Given the description of an element on the screen output the (x, y) to click on. 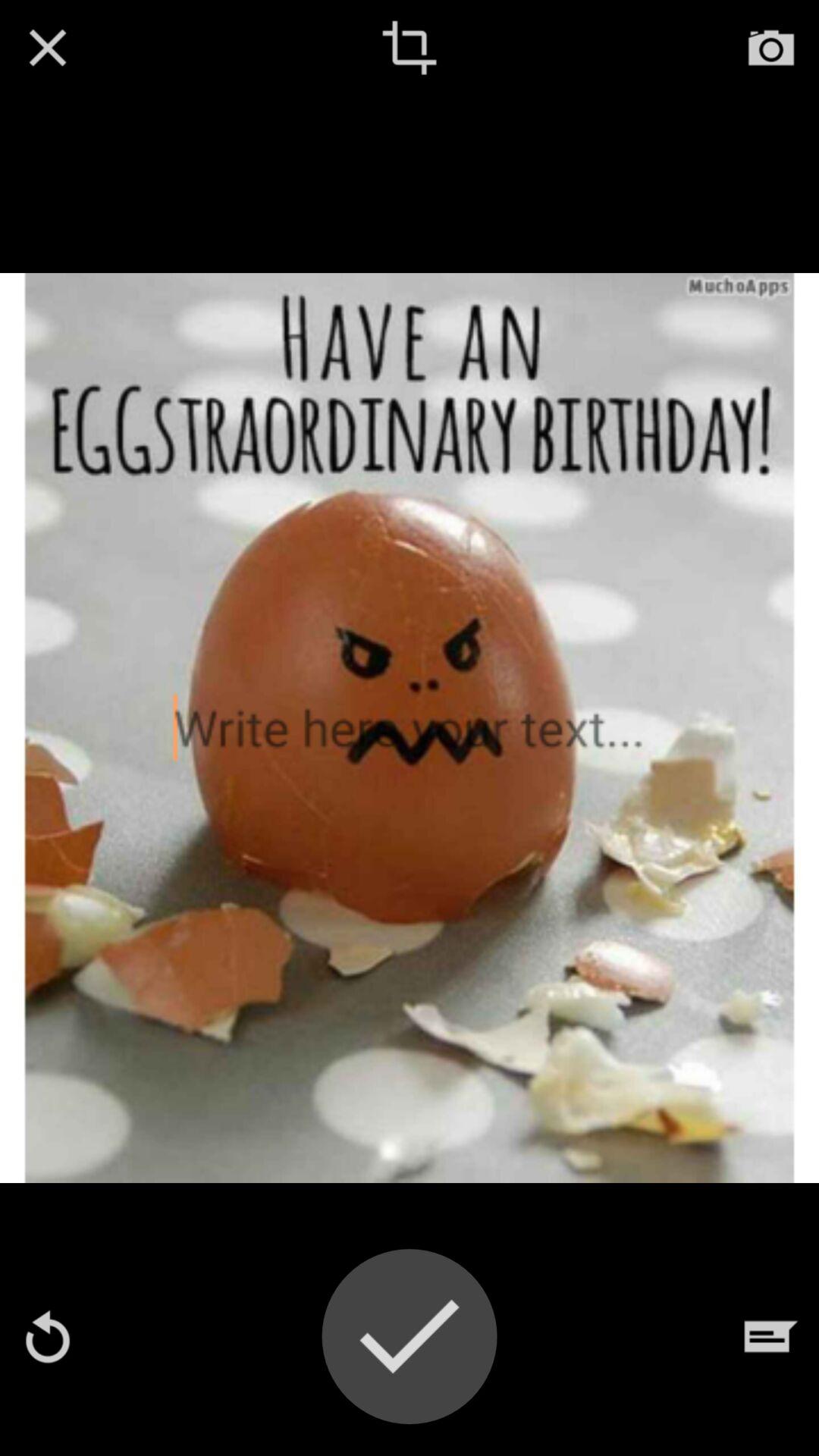
close option (47, 47)
